Given the description of an element on the screen output the (x, y) to click on. 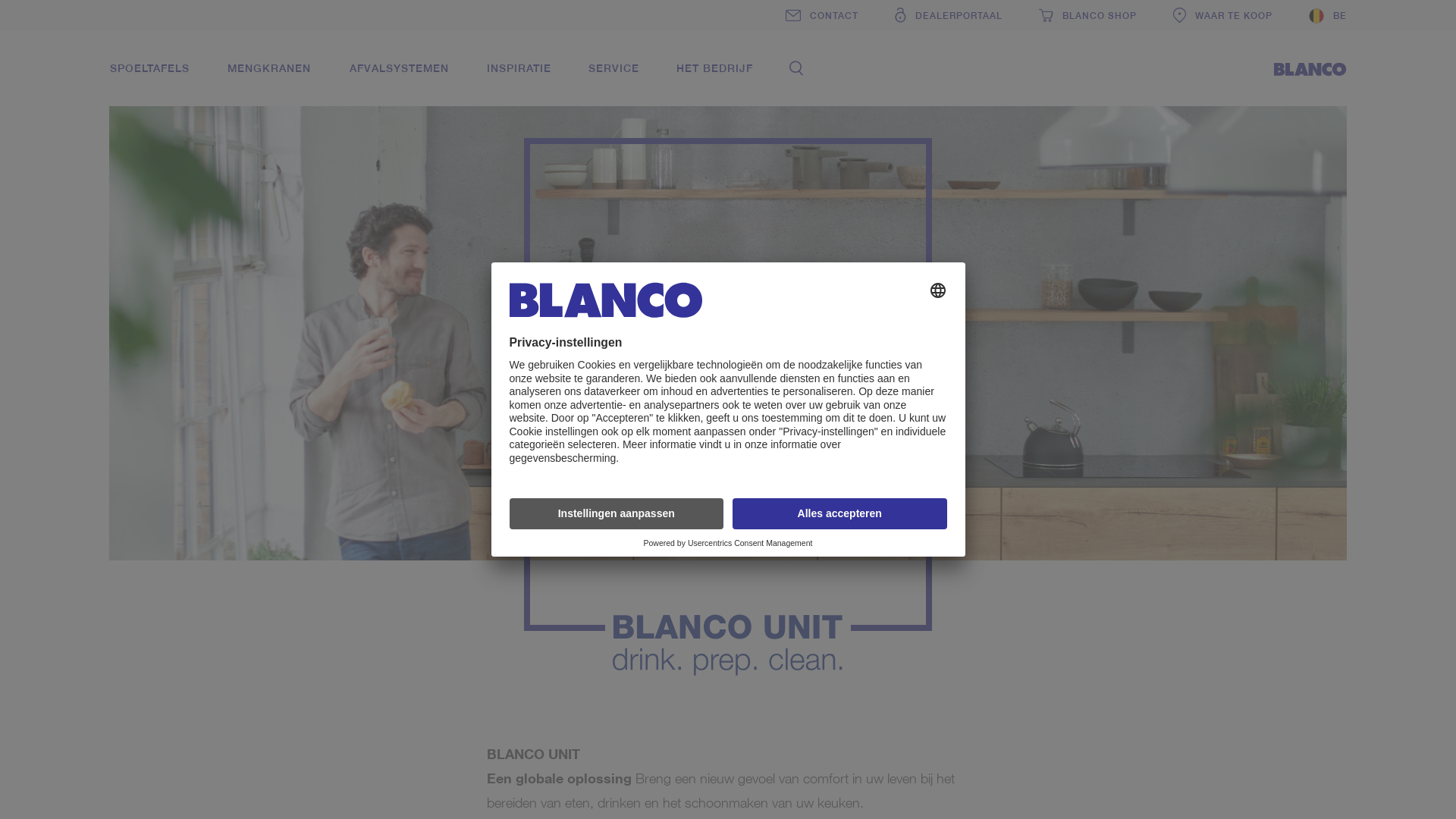
Language Flyout Element type: hover (1327, 15)
BLANCO UNIT - Een globale oplossing Element type: hover (727, 349)
INSPIRATIE Element type: text (519, 67)
CONTACT Element type: text (821, 14)
BLANCO SHOP Element type: text (1087, 14)
WAAR TE KOOP Element type: text (1222, 14)
DEALERPORTAAL Element type: text (948, 14)
Zoeken Element type: hover (796, 67)
